Given the description of an element on the screen output the (x, y) to click on. 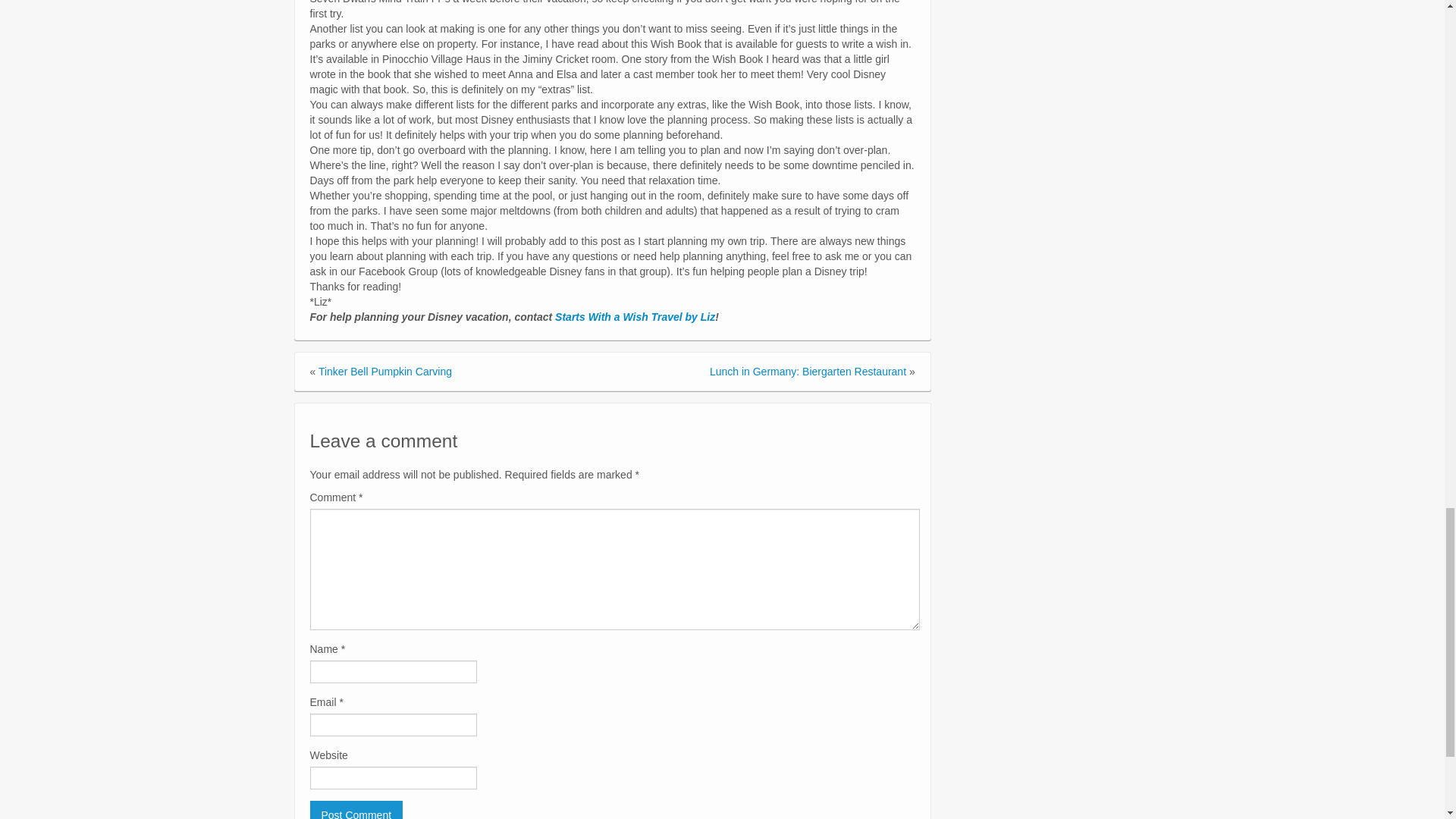
Post Comment (355, 809)
Lunch in Germany: Biergarten Restaurant (807, 371)
Post Comment (355, 809)
Tinker Bell Pumpkin Carving (384, 371)
Starts With a Wish Travel by Liz (634, 316)
